Given the description of an element on the screen output the (x, y) to click on. 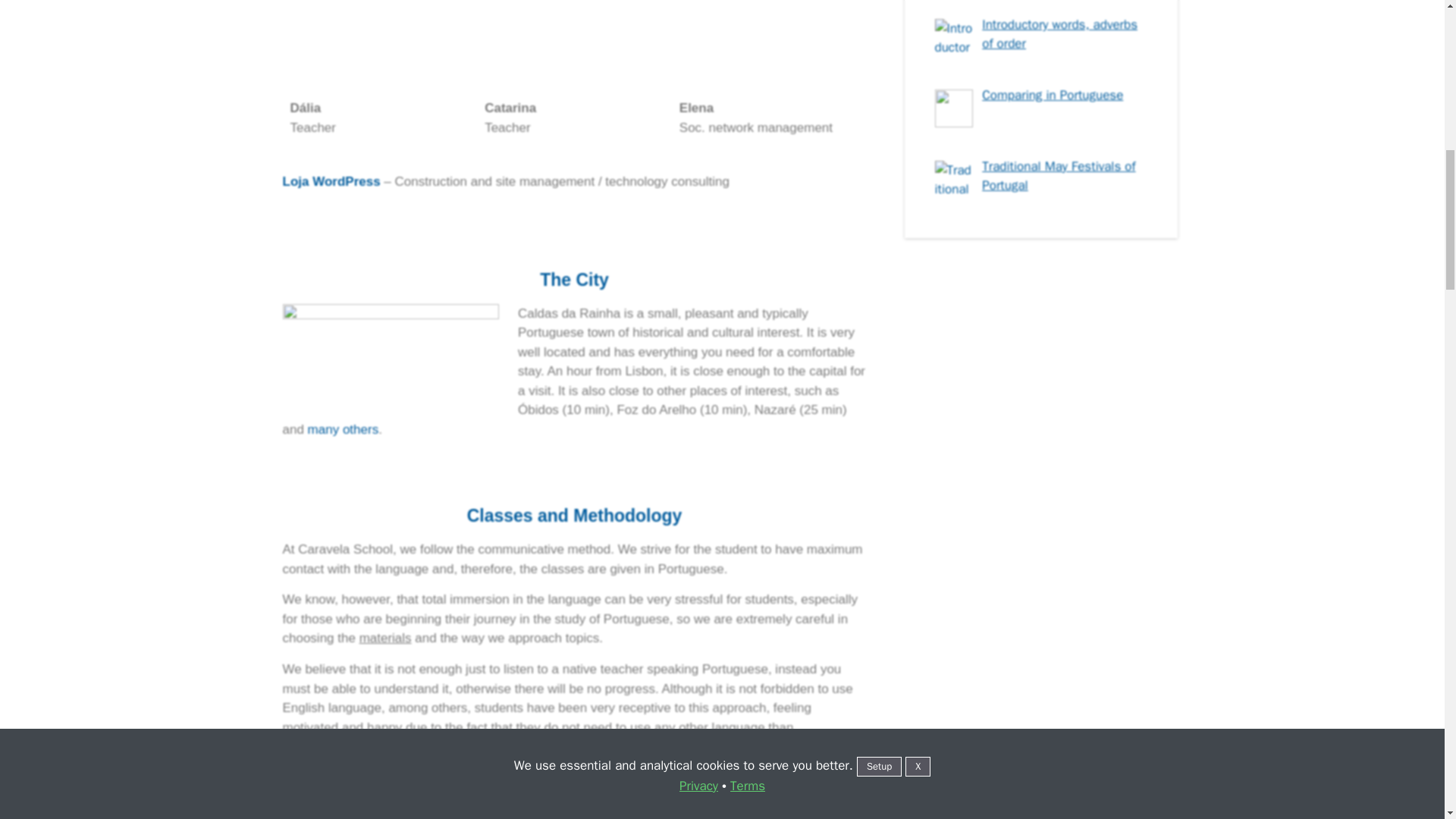
many others (342, 429)
Traditional May Festivals of Portugal (1058, 176)
Loja WordPress (331, 181)
Scroll back to top (1406, 720)
Comparing in Portuguese (1051, 94)
Introductory words, adverbs of order (1059, 34)
